Given the description of an element on the screen output the (x, y) to click on. 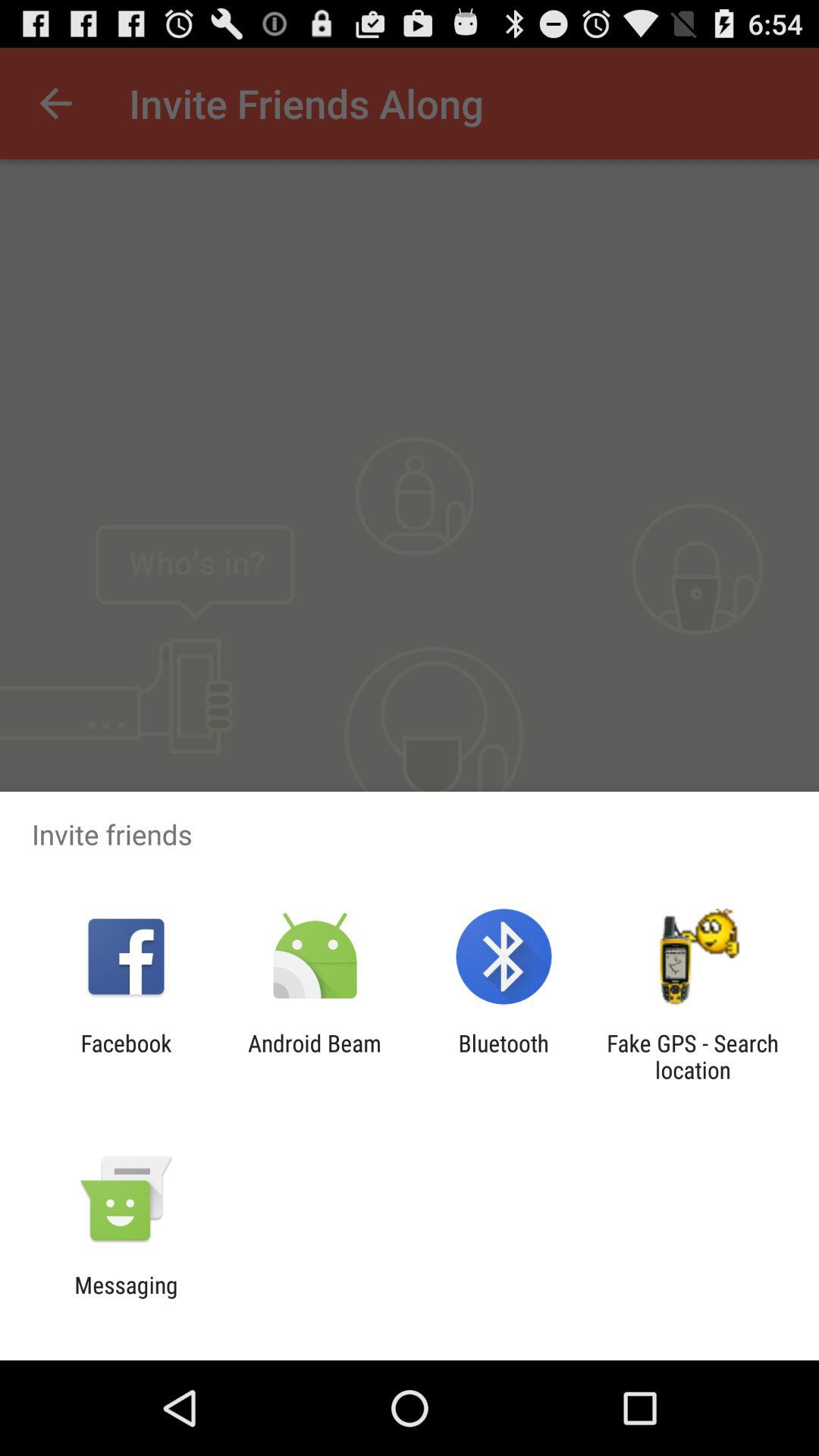
choose icon to the right of the android beam item (503, 1056)
